Given the description of an element on the screen output the (x, y) to click on. 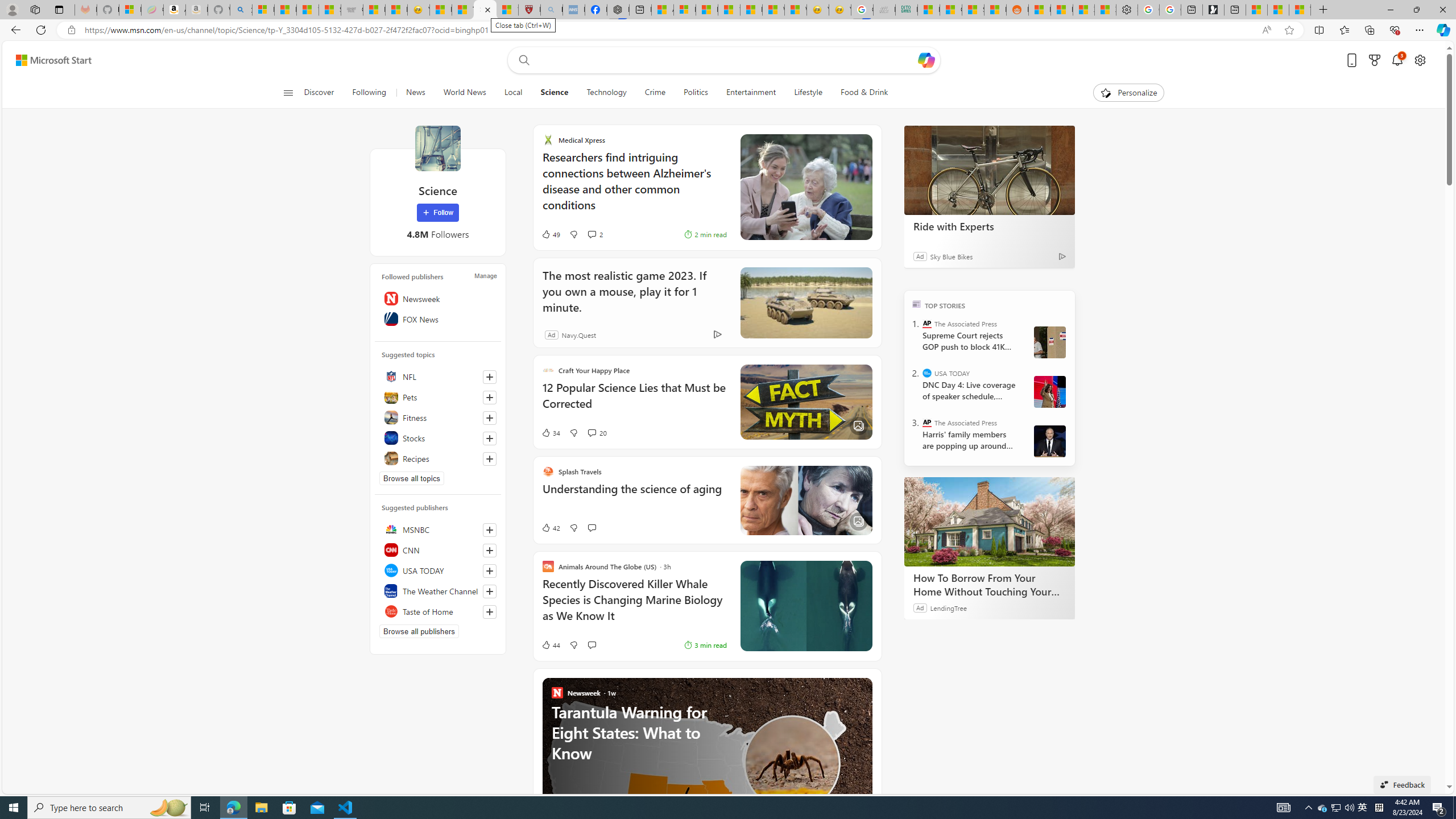
R******* | Trusted Community Engagement and Contributions (1039, 9)
